Given the description of an element on the screen output the (x, y) to click on. 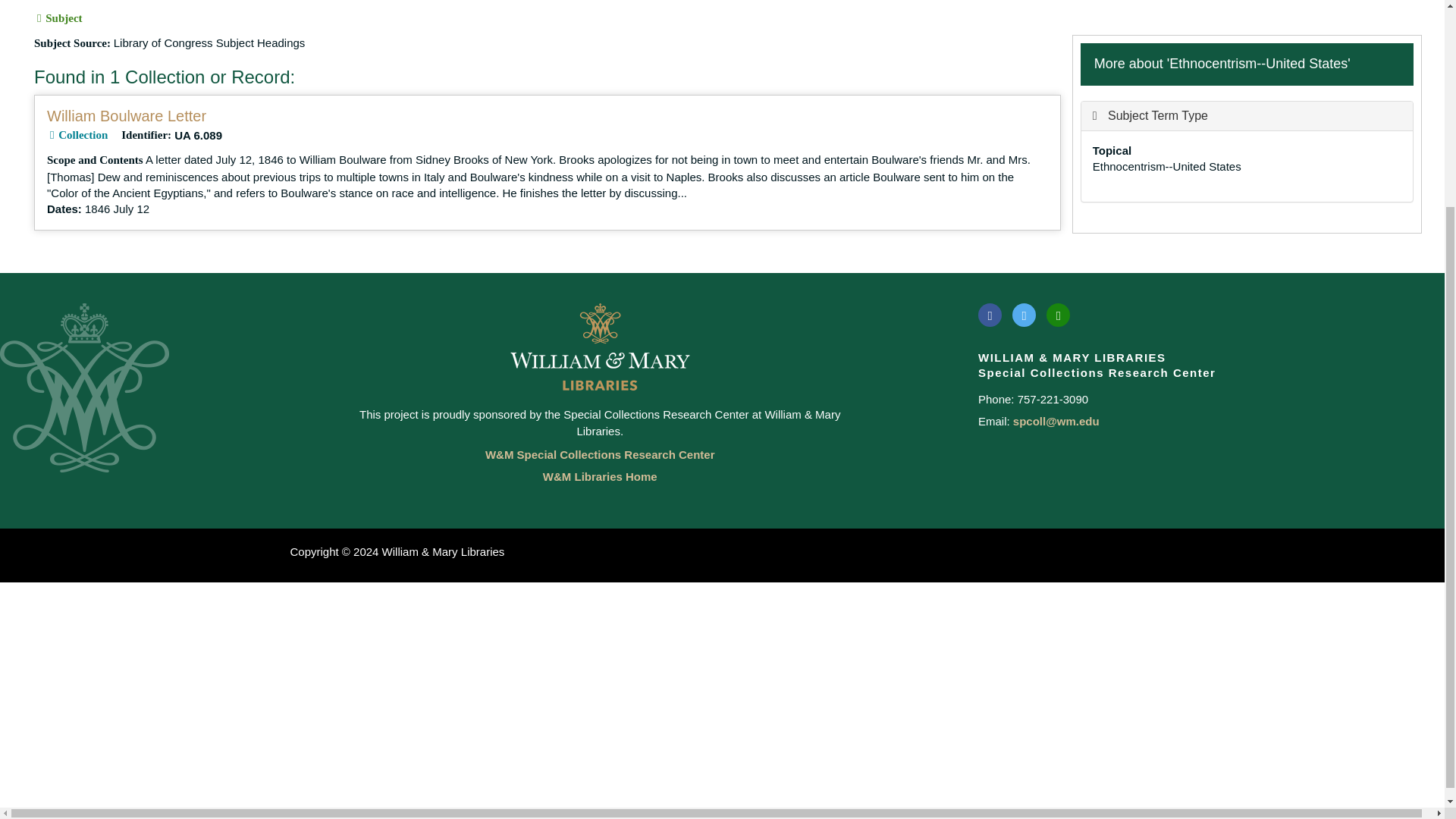
Subject Term Type (1150, 115)
Special Collections Twitter (1023, 314)
Special Collections Facebook (989, 314)
William Boulware Letter (126, 115)
Special Collections Blog (1058, 314)
